Given the description of an element on the screen output the (x, y) to click on. 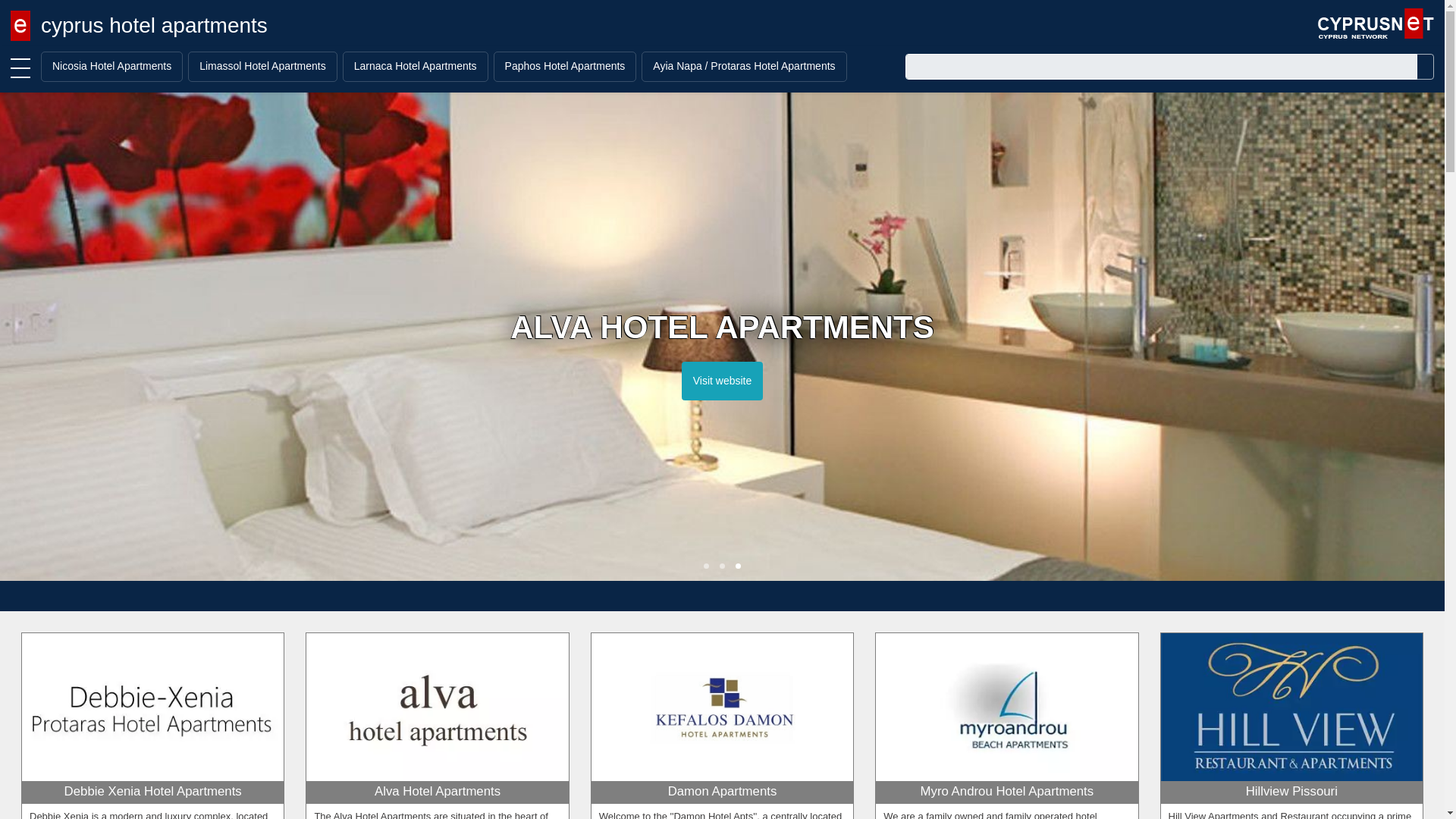
cyprus hotel apartments (138, 25)
Visit website (737, 380)
Nicosia Hotel Apartments (117, 66)
Larnaca Hotel Apartments (420, 66)
Paphos Hotel Apartments (570, 66)
Limassol Hotel Apartments (267, 66)
Debbie Xenia Hotel Apartments (152, 800)
Nicosia Hotel Apartments (117, 66)
Paphos Hotel Apartments (570, 66)
Limassol Hotel Apartments (267, 66)
Larnaca Hotel Apartments (420, 66)
cyprus hotel apartments (138, 25)
